Given the description of an element on the screen output the (x, y) to click on. 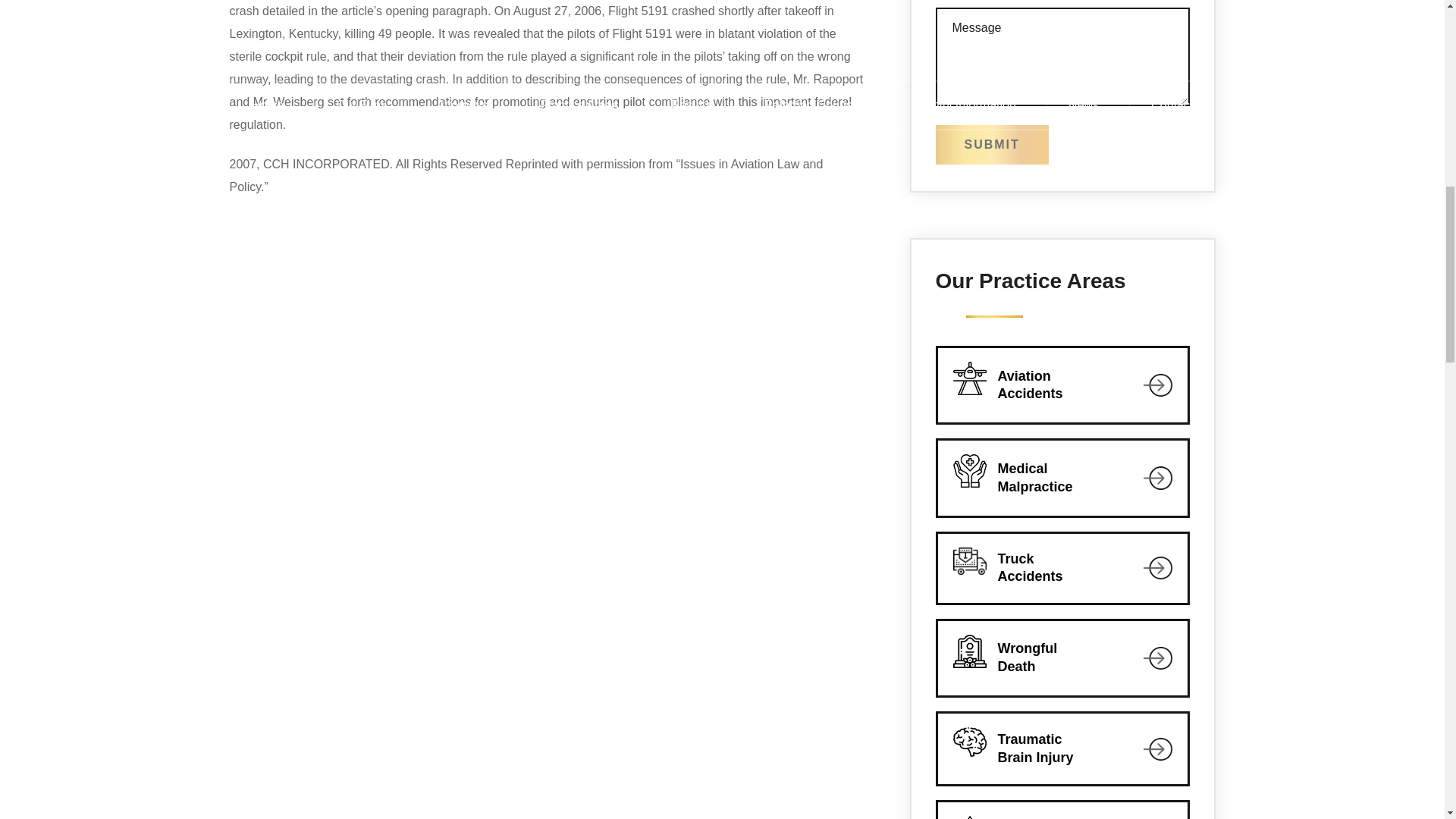
Car Accidents (1061, 810)
Submit (1061, 657)
Submit (1061, 385)
